Given the description of an element on the screen output the (x, y) to click on. 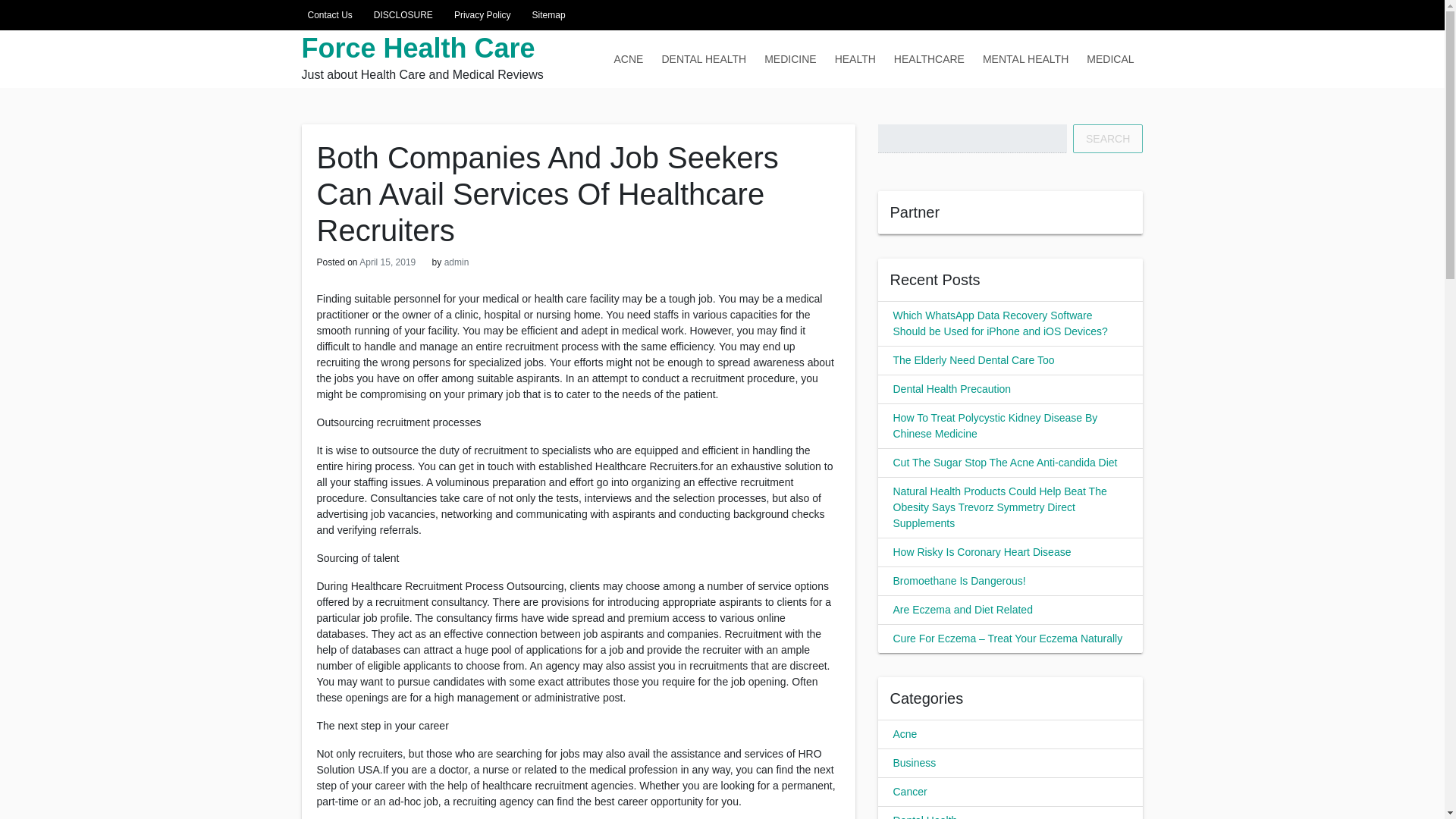
HEALTH (855, 58)
DENTAL HEALTH (703, 58)
MENTAL HEALTH (1025, 58)
SEARCH (1107, 138)
How Risky Is Coronary Heart Disease (982, 551)
Contact Us (326, 15)
Bromoethane Is Dangerous! (959, 580)
Acne (905, 734)
The Elderly Need Dental Care Too (973, 359)
Business (914, 762)
Sitemap (545, 15)
Cut The Sugar Stop The Acne Anti-candida Diet (1005, 462)
